Given the description of an element on the screen output the (x, y) to click on. 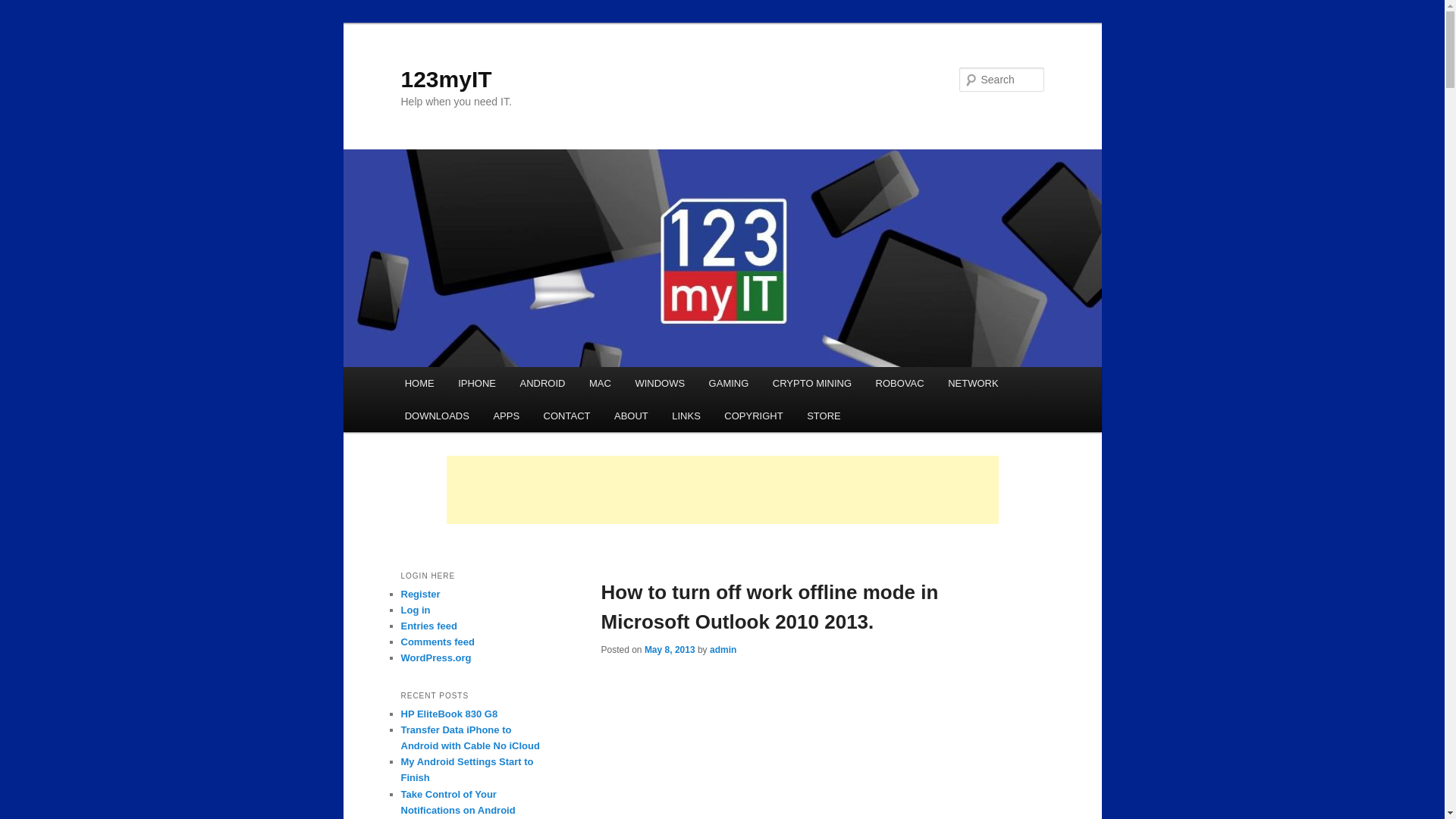
STORE (822, 415)
ANDROID (542, 382)
MAC (599, 382)
NETWORK (973, 382)
Search (24, 8)
GAMING (728, 382)
HOME (419, 382)
ROBOVAC (899, 382)
LINKS (687, 415)
WINDOWS (660, 382)
123myIT (446, 78)
7:43 am (670, 649)
IPHONE (475, 382)
